Given the description of an element on the screen output the (x, y) to click on. 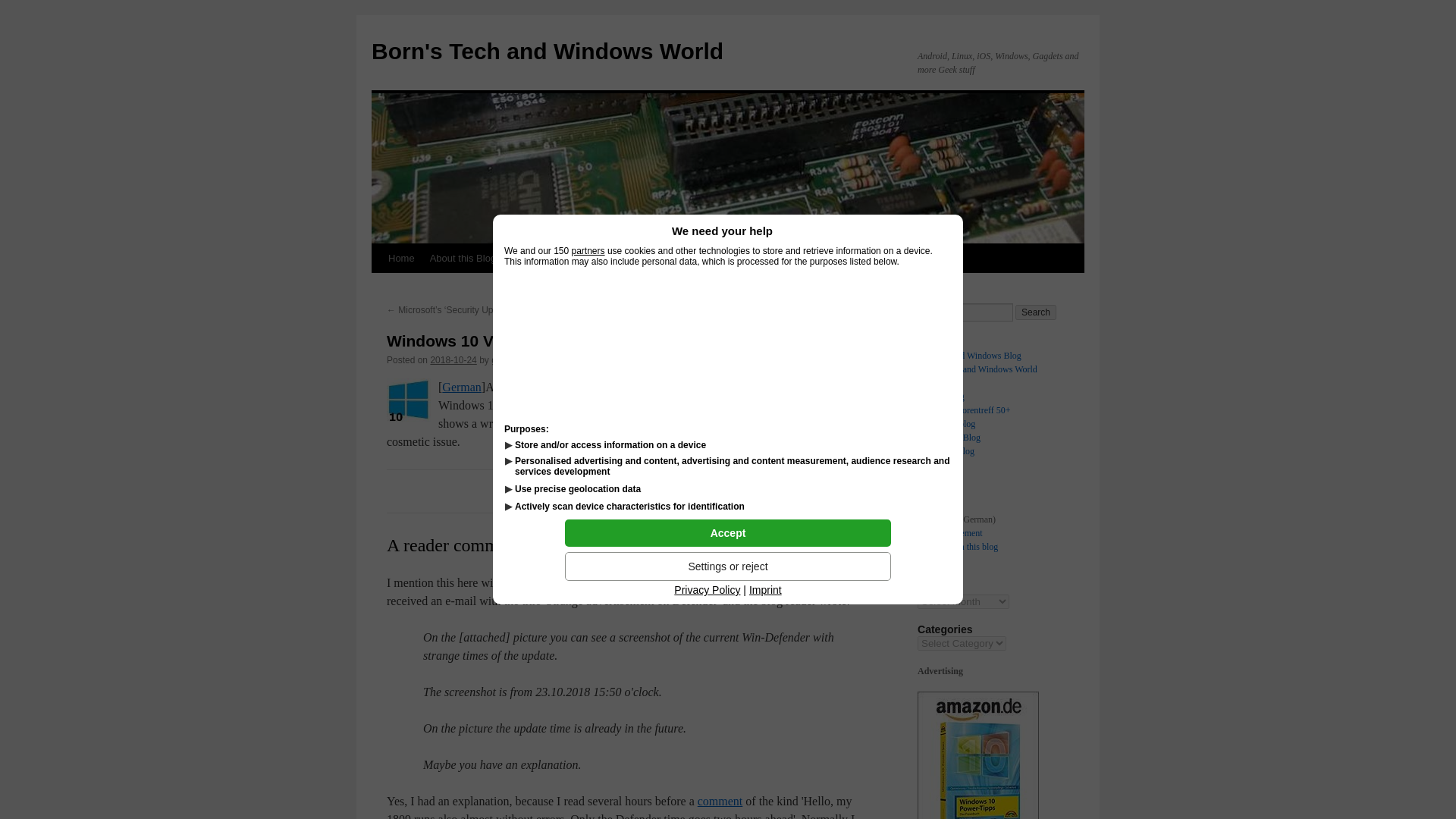
About (928, 505)
2018-10-24 (452, 359)
Win10 Wiki (738, 258)
Born's Tech and Windows World (547, 50)
Privacy statement (659, 258)
Search (1035, 312)
Impressum (937, 519)
comment (719, 800)
Mein Reiseblog (946, 423)
E-Scooter-Blog (945, 450)
Search (1035, 312)
German (461, 386)
Home (928, 491)
Advertise on this blog (557, 258)
1:12 (452, 359)
